Given the description of an element on the screen output the (x, y) to click on. 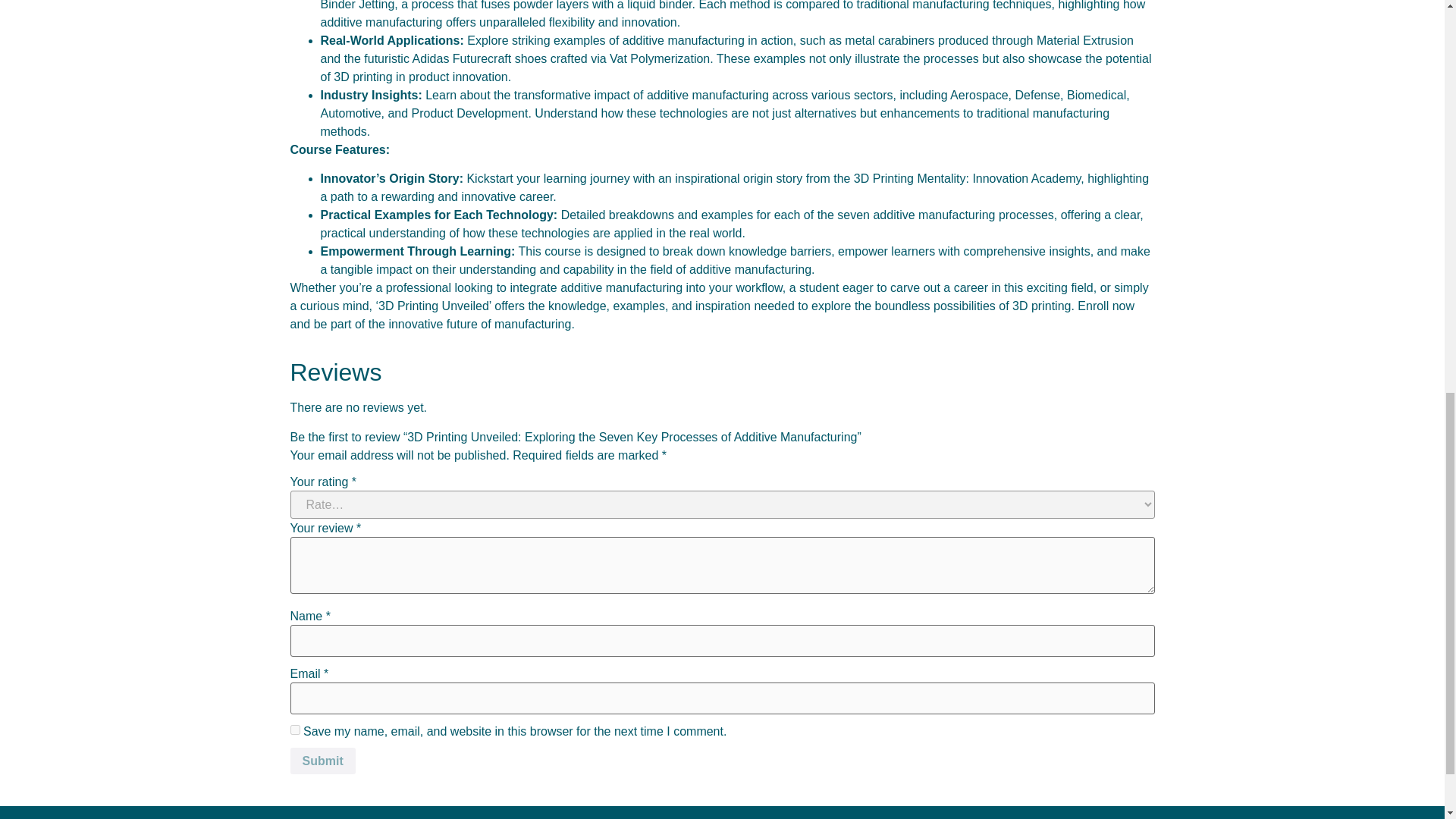
Submit (322, 760)
yes (294, 729)
Submit (322, 760)
